Given the description of an element on the screen output the (x, y) to click on. 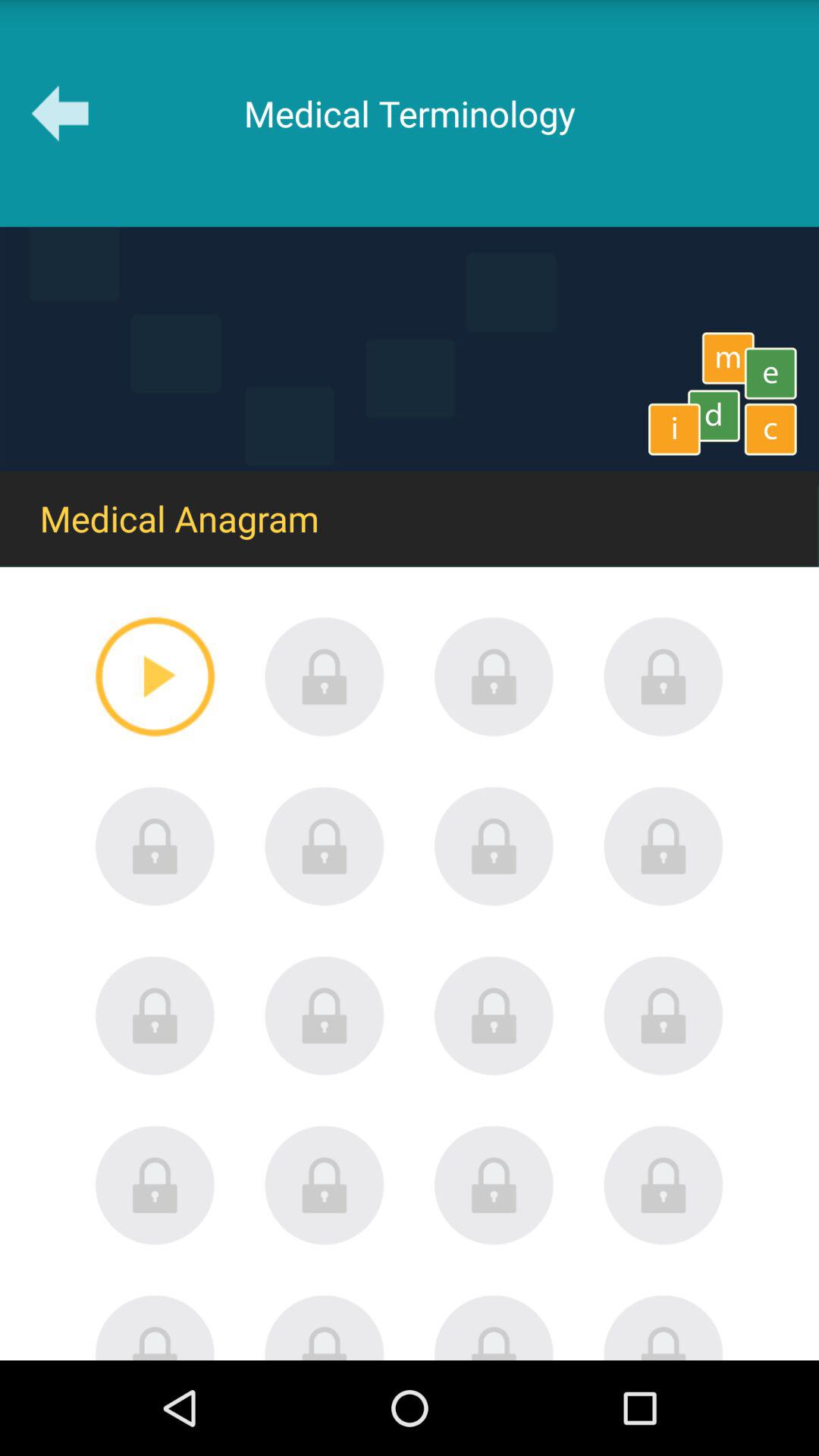
password (154, 846)
